Given the description of an element on the screen output the (x, y) to click on. 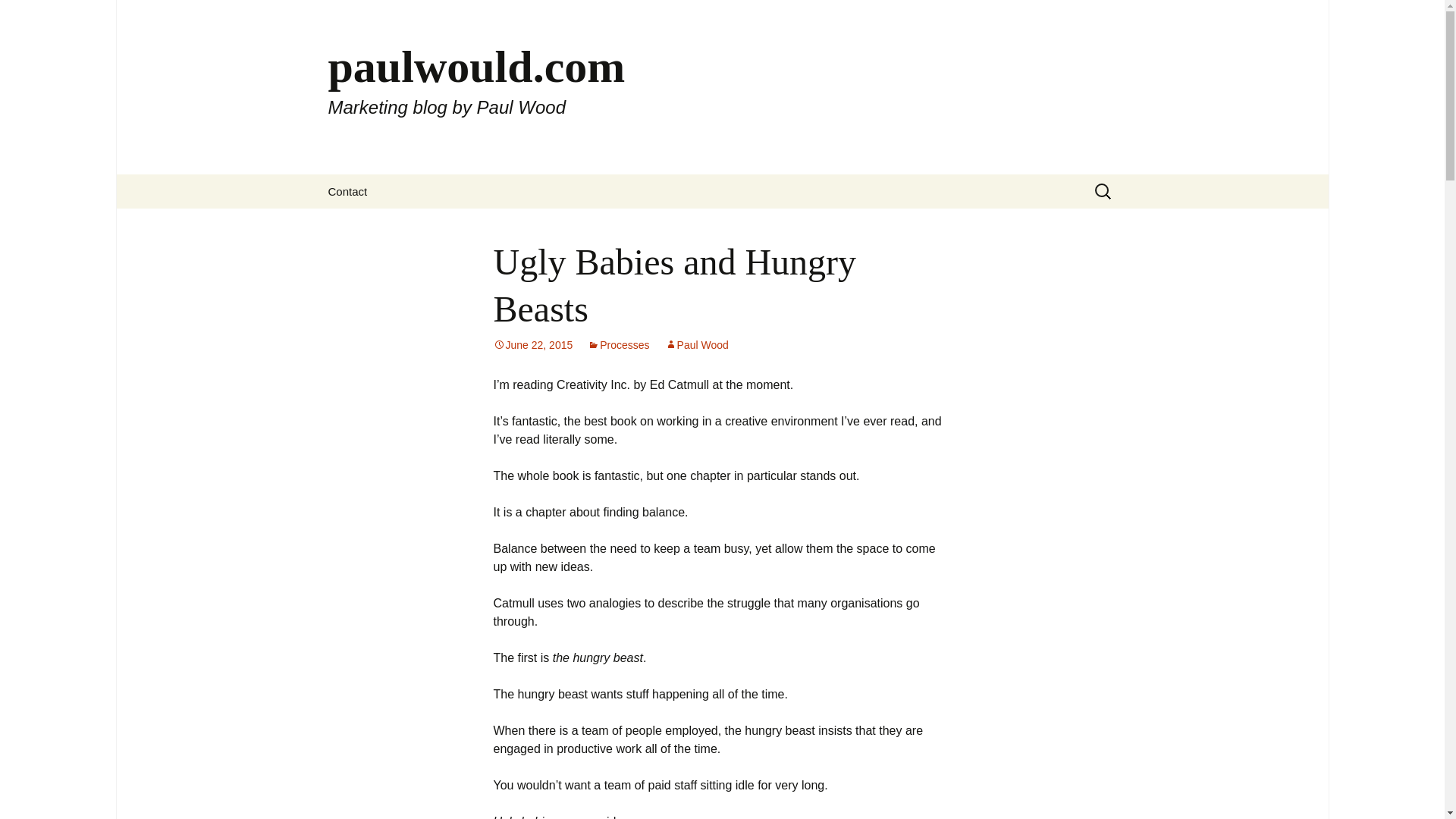
Skip to content (353, 183)
Processes (618, 345)
Permalink to Ugly Babies and Hungry Beasts (532, 345)
June 22, 2015 (532, 345)
Contact (347, 191)
Search for: (1103, 191)
Search (34, 15)
Search (18, 15)
Skip to content (353, 183)
Paul Wood (697, 345)
